Given the description of an element on the screen output the (x, y) to click on. 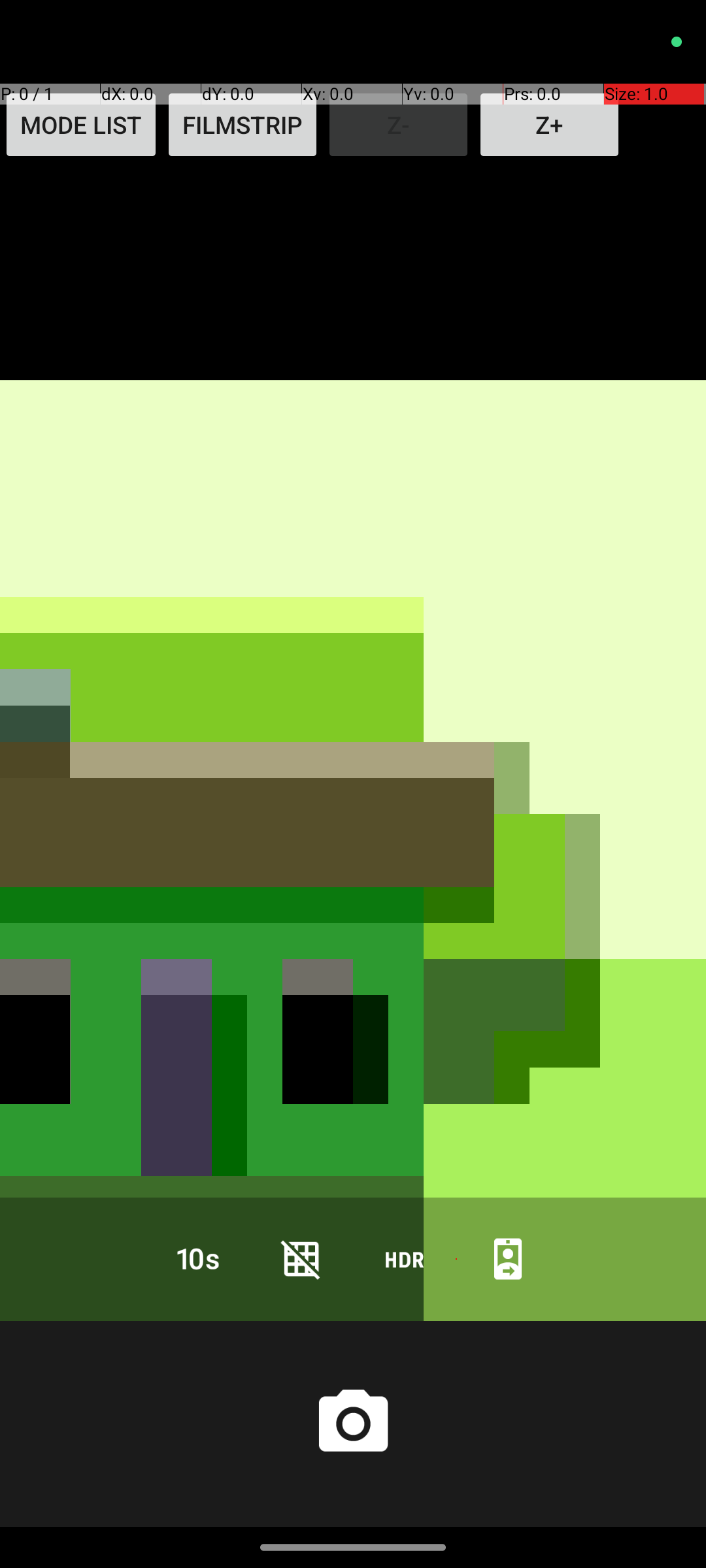
Countdown timer duration is set to 10 seconds Element type: android.widget.ImageButton (197, 1258)
Grid lines off Element type: android.widget.ImageButton (301, 1258)
HDR on Element type: android.widget.ImageButton (404, 1258)
Front camera Element type: android.widget.ImageButton (507, 1258)
